Given the description of an element on the screen output the (x, y) to click on. 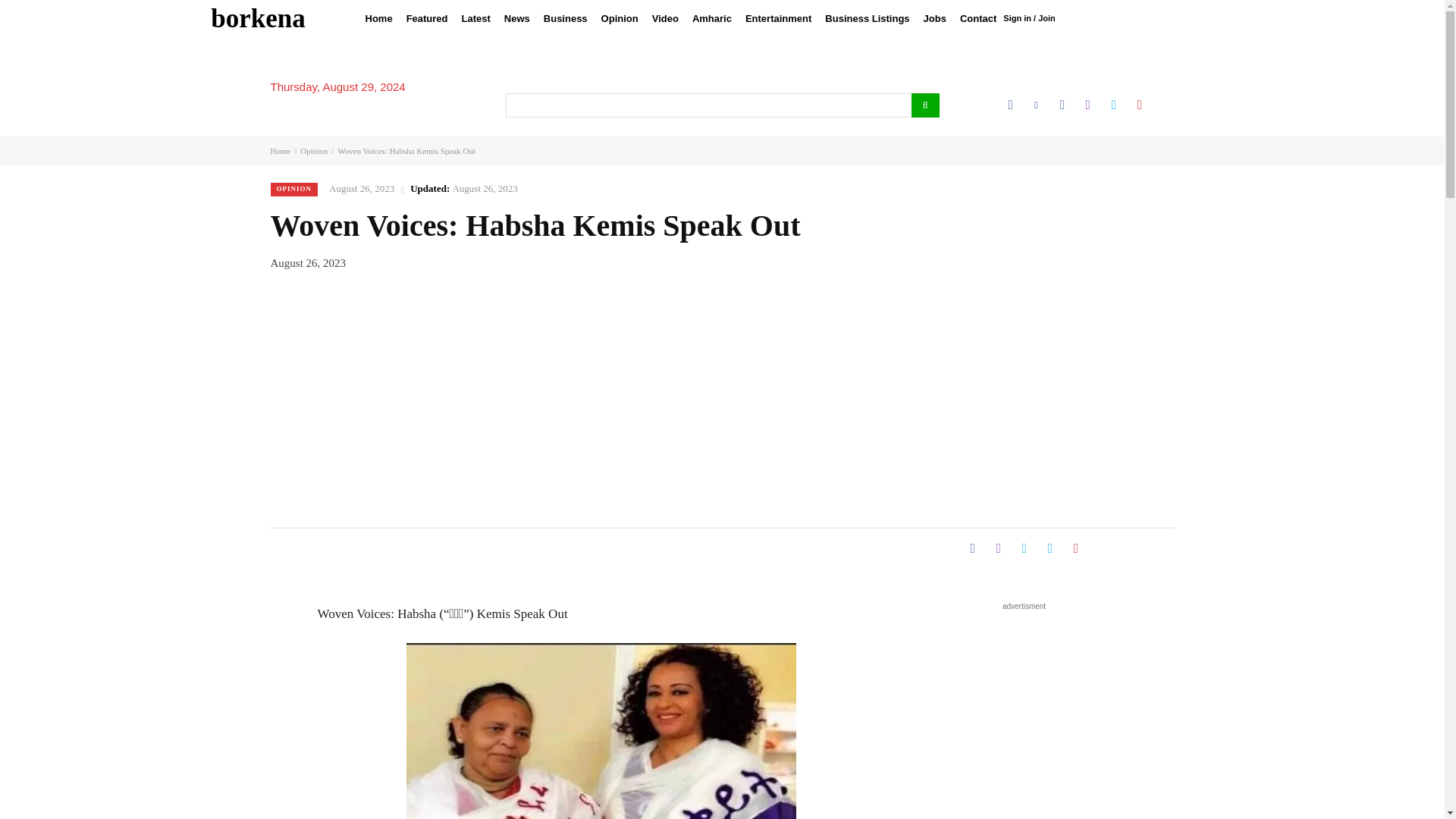
Latest (475, 18)
Opinion (619, 18)
Entertainment (778, 18)
Business (565, 18)
Video (665, 18)
Business Listings (866, 18)
Amharic (711, 18)
Jobs (935, 18)
News (517, 18)
borkena (257, 18)
